Given the description of an element on the screen output the (x, y) to click on. 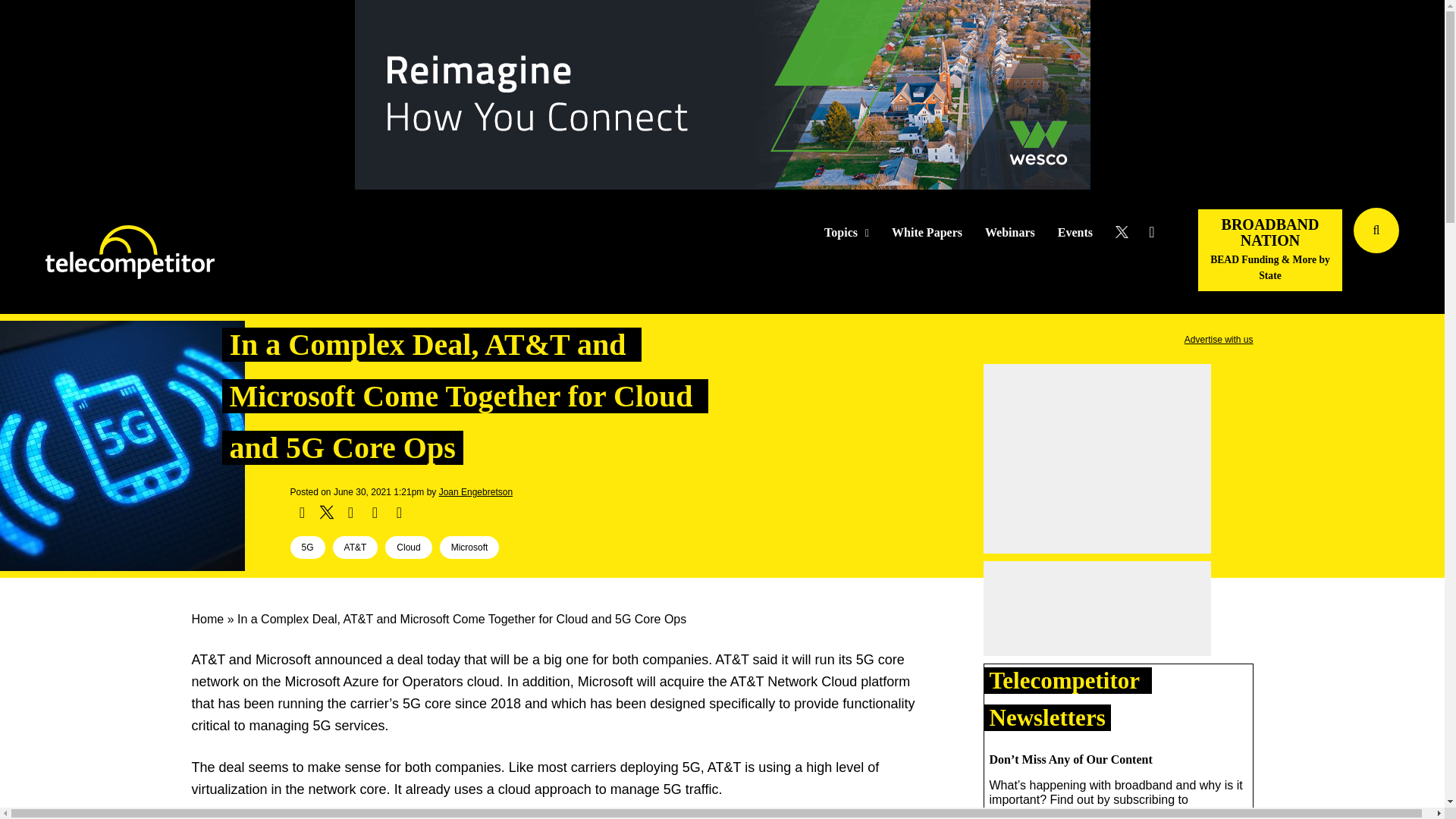
Search (1430, 253)
Share on Linked In (349, 512)
Share on Facebook (301, 512)
Follow Us on LinkedIN (1151, 232)
Pinterest (374, 512)
Webinars (1010, 232)
Search telecompetitor.com (1376, 230)
Events (1074, 232)
White Papers (927, 232)
Follow Us on Twitter (1127, 232)
